Given the description of an element on the screen output the (x, y) to click on. 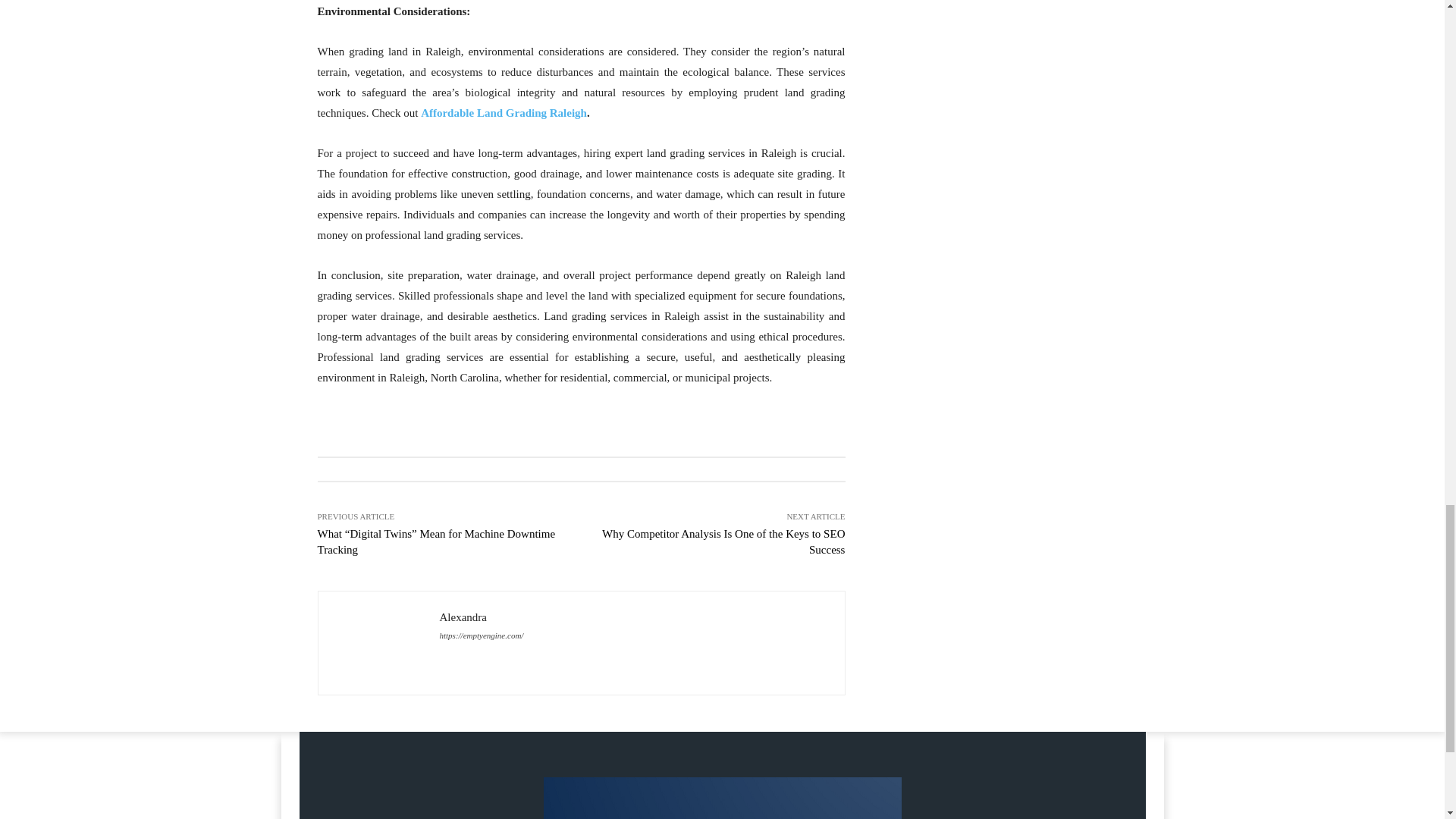
Affordable Land Grading Raleigh (503, 112)
Alexandra (481, 617)
Alexandra (379, 642)
Why Competitor Analysis Is One of the Keys to SEO Success (723, 541)
